Given the description of an element on the screen output the (x, y) to click on. 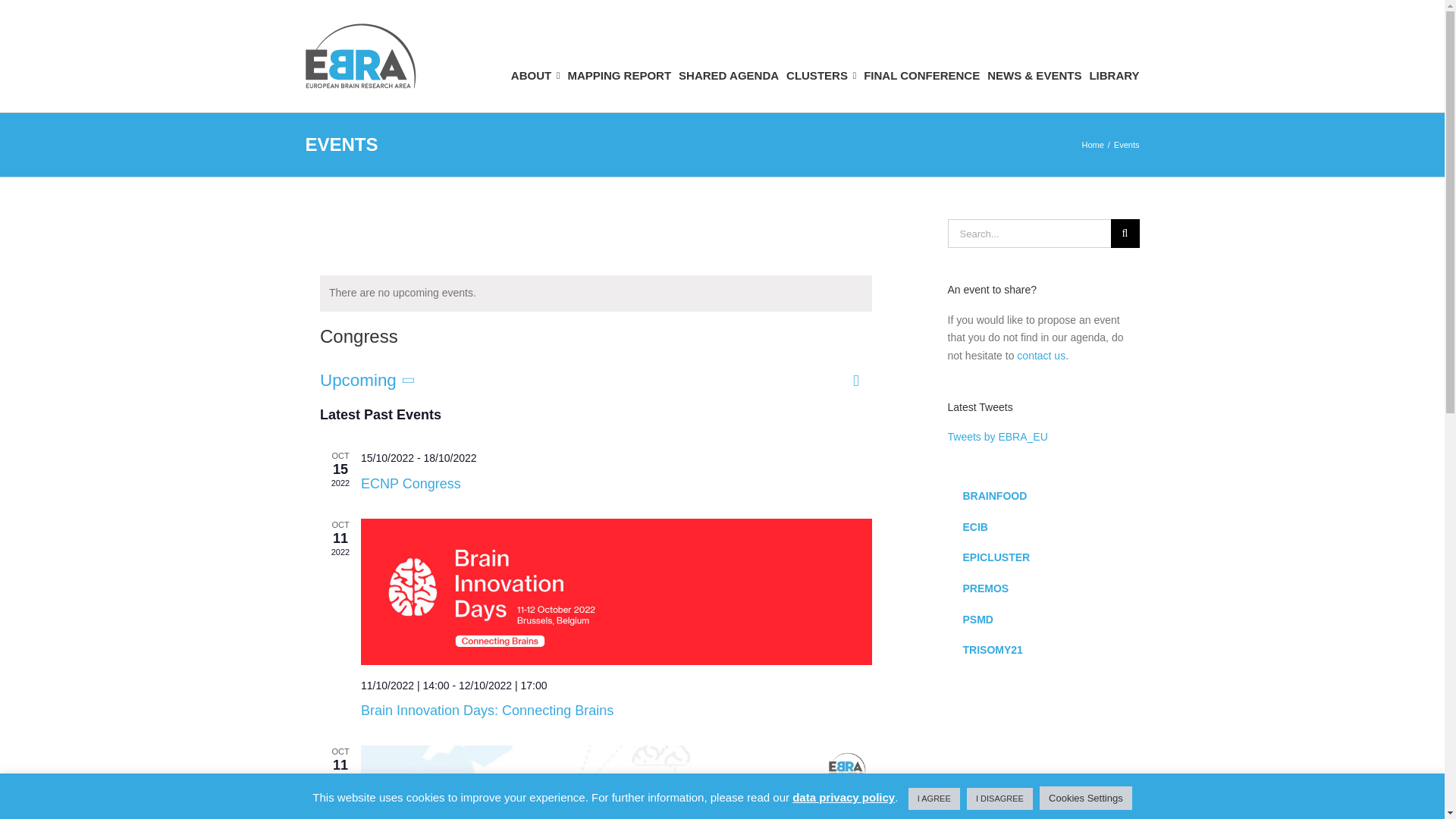
EBRA Final Conference (616, 782)
SHARED AGENDA (728, 56)
Click to toggle datepicker (369, 380)
Brain Innovation Days: Connecting Brains (616, 591)
Brain Innovation Days: Connecting Brains (486, 710)
FINAL CONFERENCE (921, 56)
MAPPING REPORT (619, 56)
ECNP Congress (411, 483)
